Given the description of an element on the screen output the (x, y) to click on. 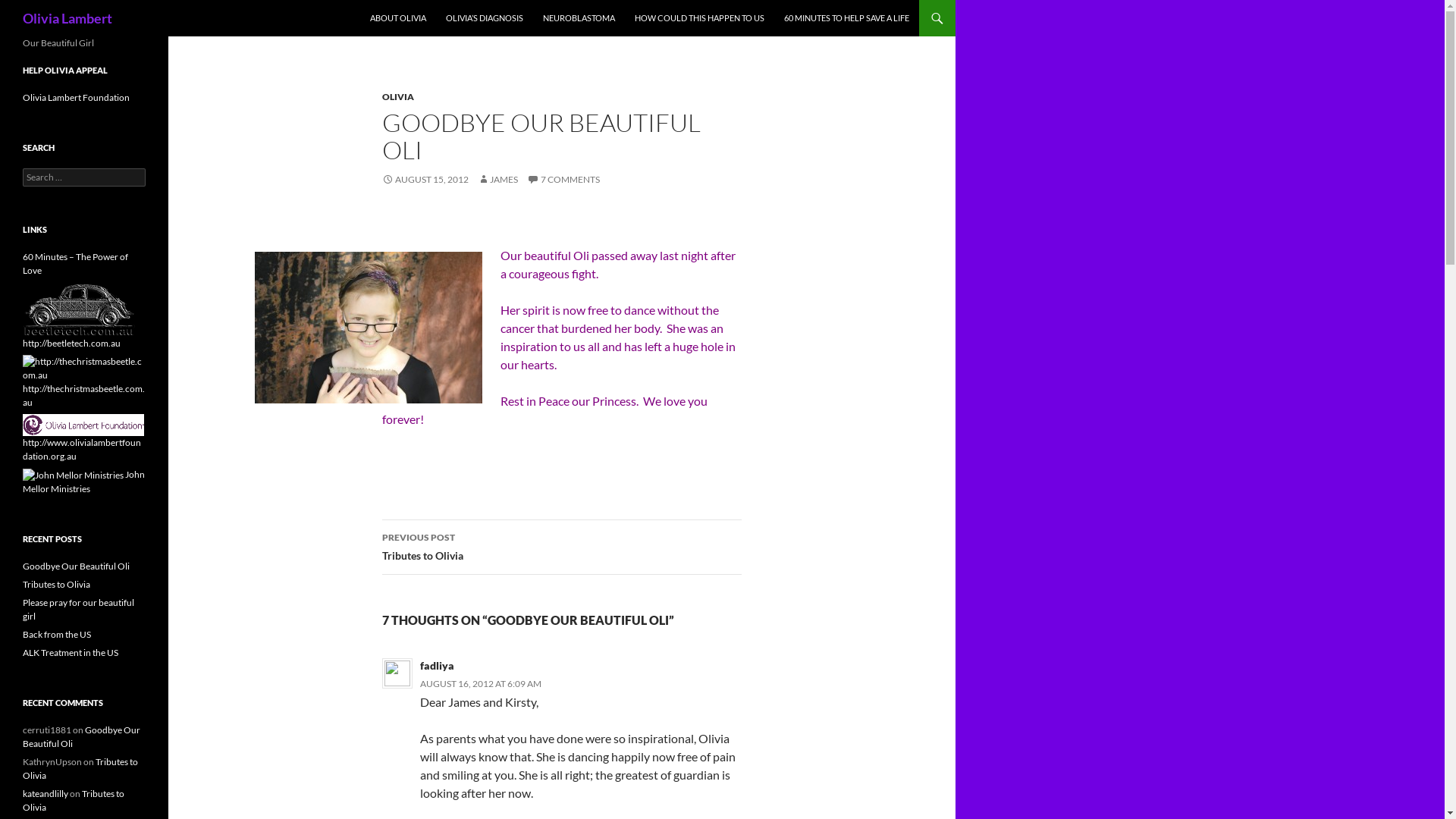
Tributes to Olivia Element type: text (73, 799)
HOW COULD THIS HAPPEN TO US Element type: text (699, 18)
Tributes to Olivia Element type: text (56, 583)
Our Beautiful Angel Element type: hover (368, 327)
kateandlilly Element type: text (45, 793)
http://www.olivialambertfoundation.org.au Element type: text (83, 439)
ABOUT OLIVIA Element type: text (397, 18)
OLIVIA Element type: text (398, 96)
AUGUST 15, 2012 Element type: text (425, 179)
Olivia Lambert Foundation Element type: hover (83, 425)
ALK Treatment in the US Element type: text (70, 652)
Back from the US Element type: text (56, 634)
Search Element type: text (29, 9)
AUGUST 16, 2012 AT 6:09 AM Element type: text (480, 683)
Goodbye Our Beautiful Oli Element type: text (75, 565)
http://beetletech.com.au Element type: text (79, 325)
SKIP TO CONTENT Element type: text (369, 0)
Tributes to Olivia Element type: text (80, 768)
JAMES Element type: text (497, 179)
NEUROBLASTOMA Element type: text (578, 18)
John Mellor Ministries Element type: text (83, 481)
PREVIOUS POST
Tributes to Olivia Element type: text (561, 547)
Please pray for our beautiful girl Element type: text (78, 608)
Goodbye Our Beautiful Oli Element type: text (81, 736)
Olivia Lambert Foundation Element type: text (75, 97)
Search Element type: text (3, 0)
Software, Support, Websites and Training. Element type: hover (79, 309)
http://thechristmasbeetle.com.au Element type: text (83, 384)
Olivia Lambert Element type: text (67, 18)
60 MINUTES TO HELP SAVE A LIFE Element type: text (846, 18)
7 COMMENTS Element type: text (563, 179)
